Given the description of an element on the screen output the (x, y) to click on. 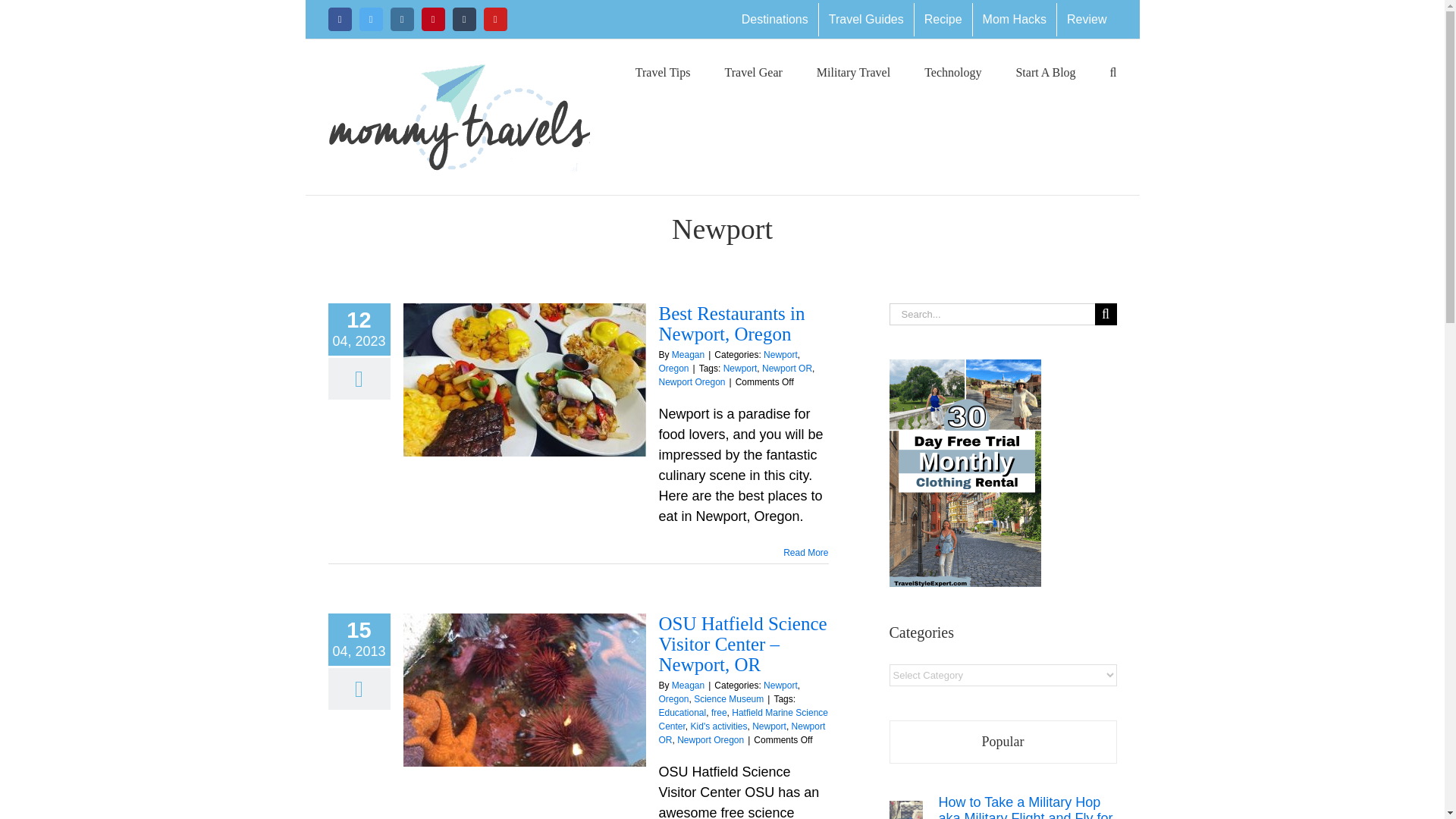
Tumblr (463, 19)
Posts by Meagan (687, 685)
YouTube (494, 19)
YouTube (494, 19)
Tumblr (463, 19)
Instagram (401, 19)
Best Restaurants in Newport, Oregon 1 (524, 379)
OSU Hatfield Science Visitor Center - Newport, OR 2 (524, 689)
Posts by Meagan (687, 354)
Pinterest (433, 19)
